Given the description of an element on the screen output the (x, y) to click on. 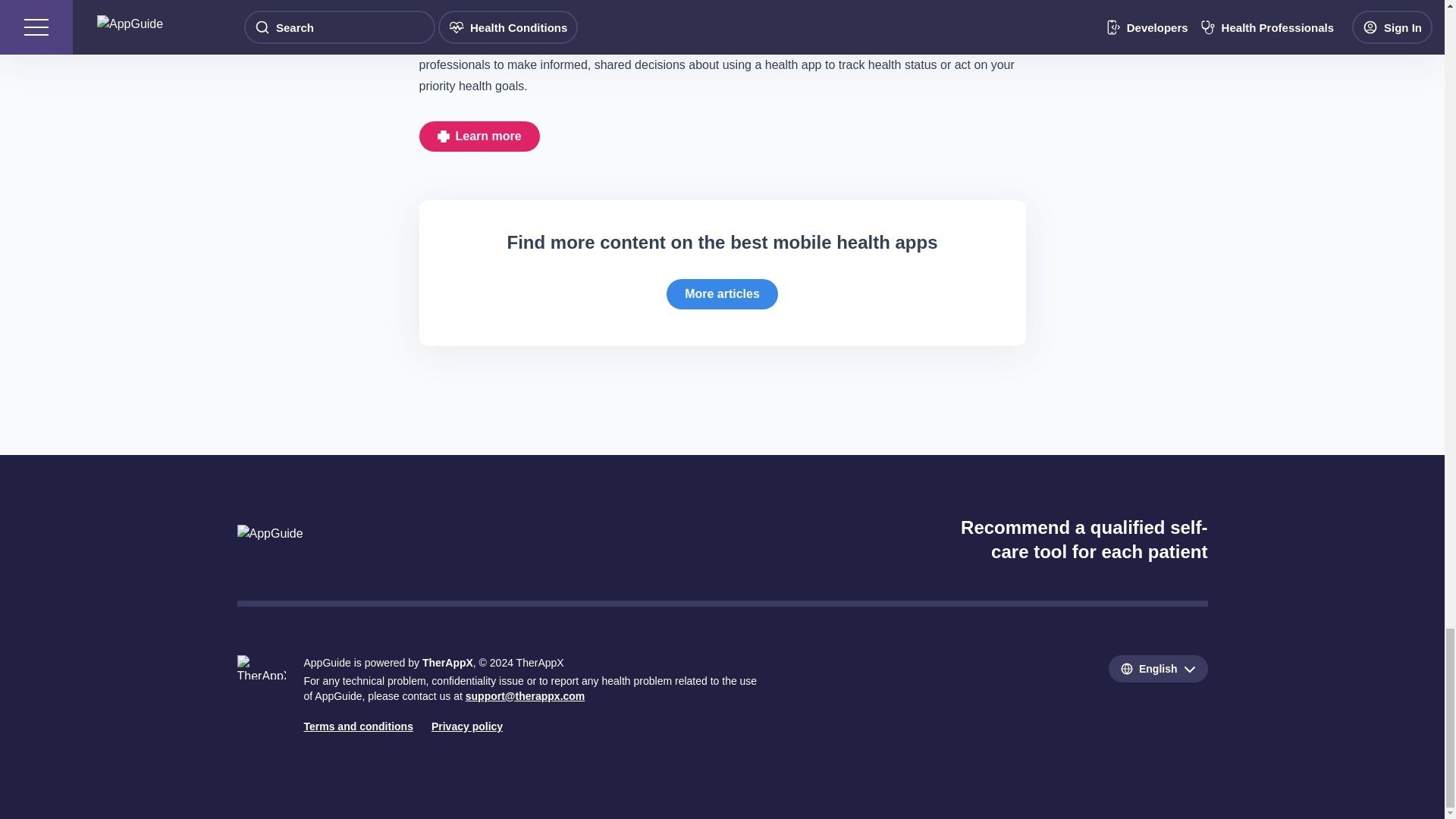
Privacy policy (466, 726)
Terms and conditions (357, 726)
More articles (721, 294)
English (1158, 668)
Learn more (478, 136)
